Given the description of an element on the screen output the (x, y) to click on. 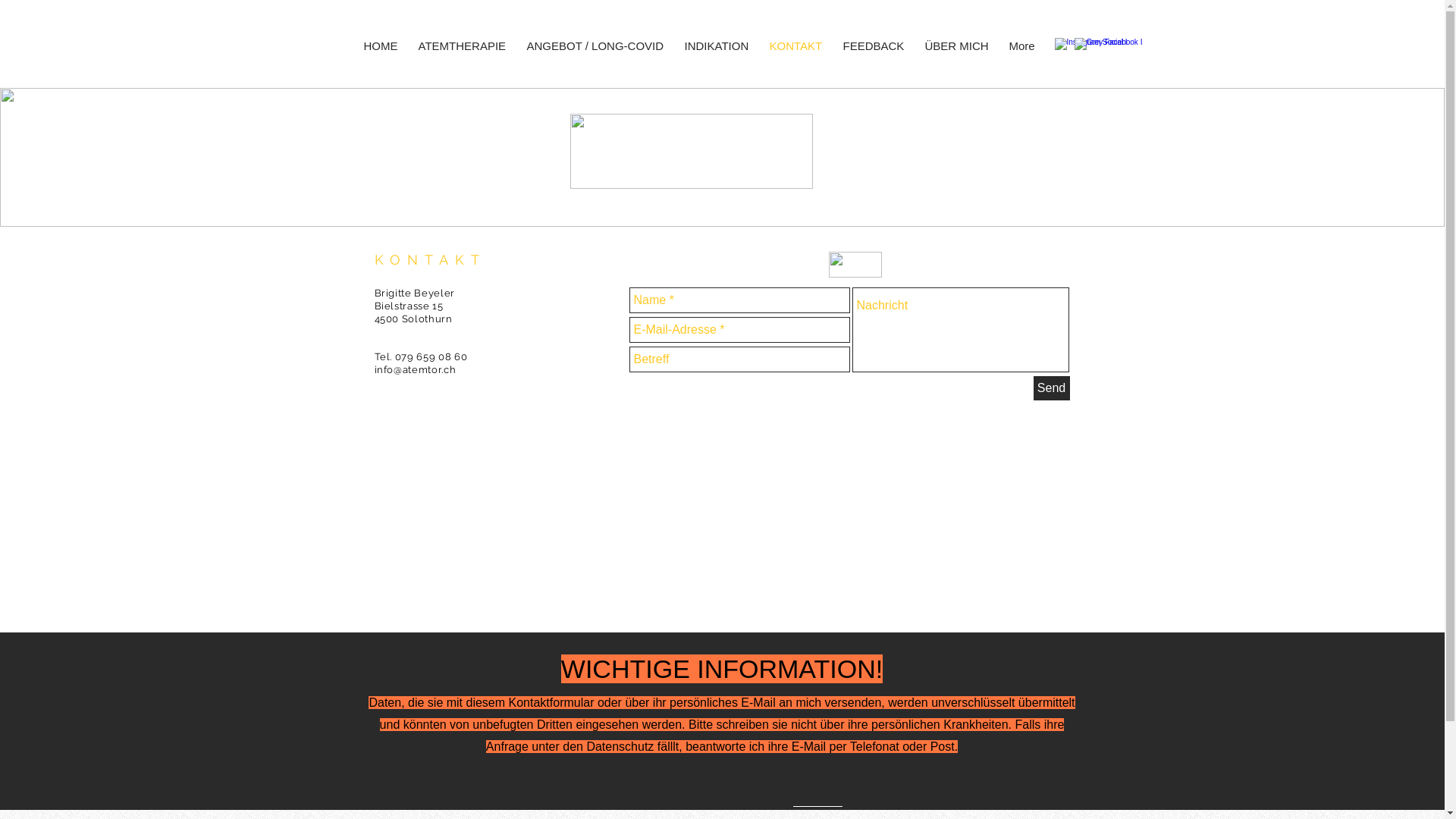
FEEDBACK Element type: text (876, 45)
info@atemtor.ch Element type: text (415, 369)
KONTAKT Element type: text (797, 45)
ATEMTHERAPIE Element type: text (465, 45)
ANGEBOT / LONG-COVID Element type: text (597, 45)
HOME Element type: text (383, 45)
INDIKATION Element type: text (718, 45)
Send Element type: text (1050, 388)
Google Maps Element type: hover (721, 511)
